Given the description of an element on the screen output the (x, y) to click on. 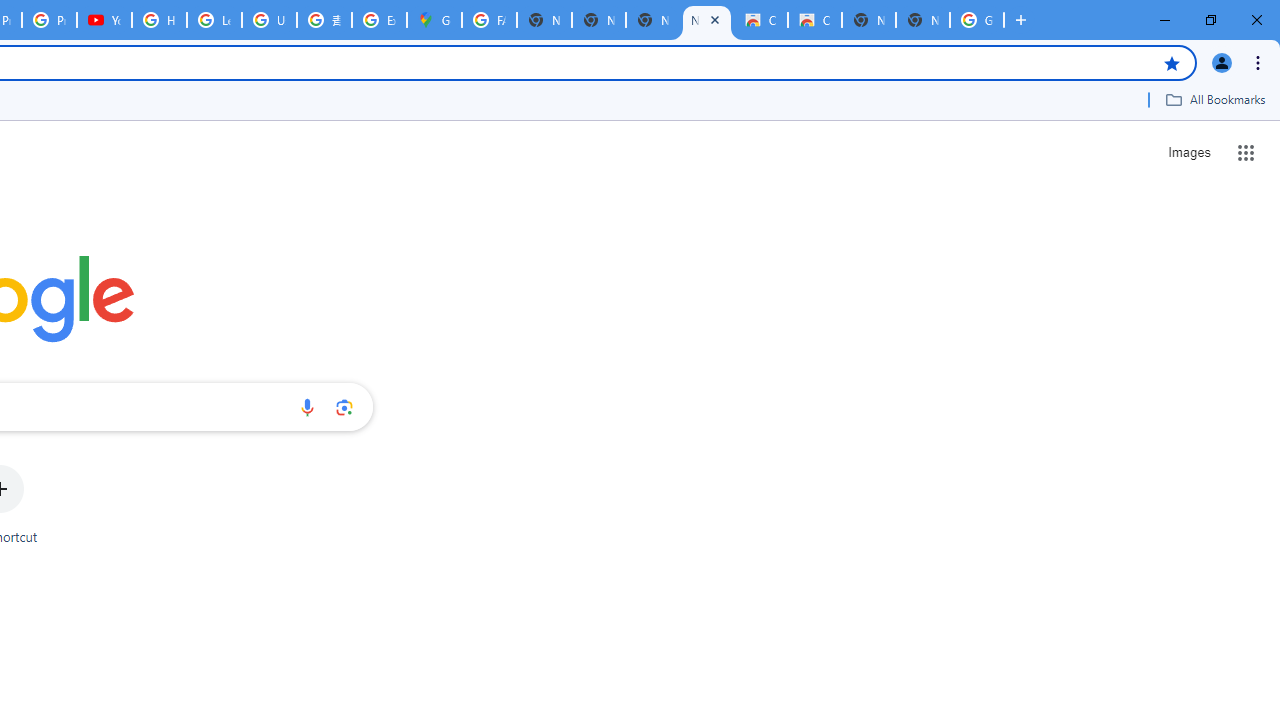
YouTube (103, 20)
How Chrome protects your passwords - Google Chrome Help (158, 20)
Google Maps (434, 20)
Google Images (976, 20)
